Given the description of an element on the screen output the (x, y) to click on. 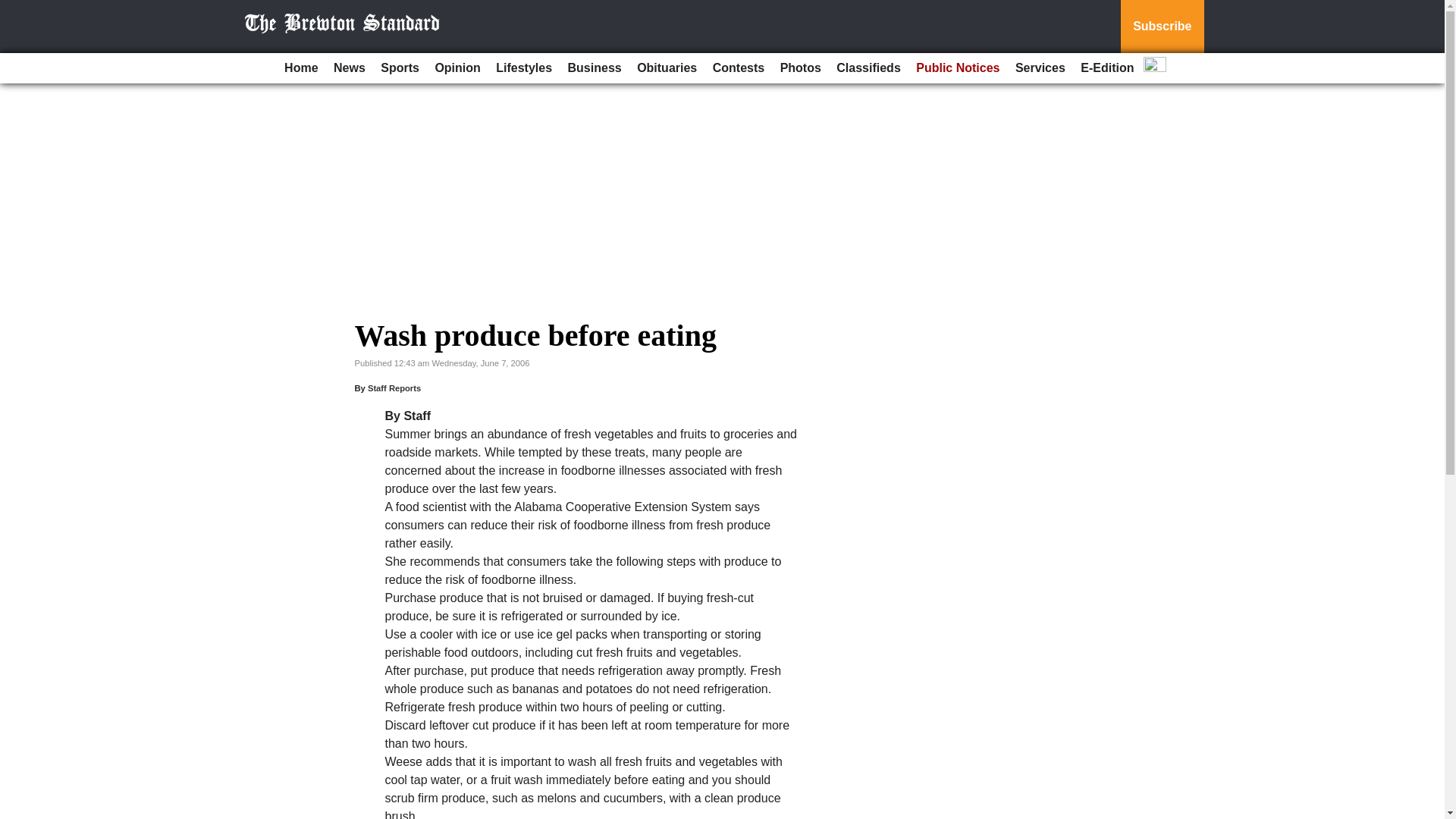
News (349, 68)
Contests (738, 68)
Staff Reports (394, 388)
E-Edition (1107, 68)
Go (13, 9)
Business (594, 68)
Lifestyles (523, 68)
Opinion (457, 68)
Home (300, 68)
Classifieds (867, 68)
